Given the description of an element on the screen output the (x, y) to click on. 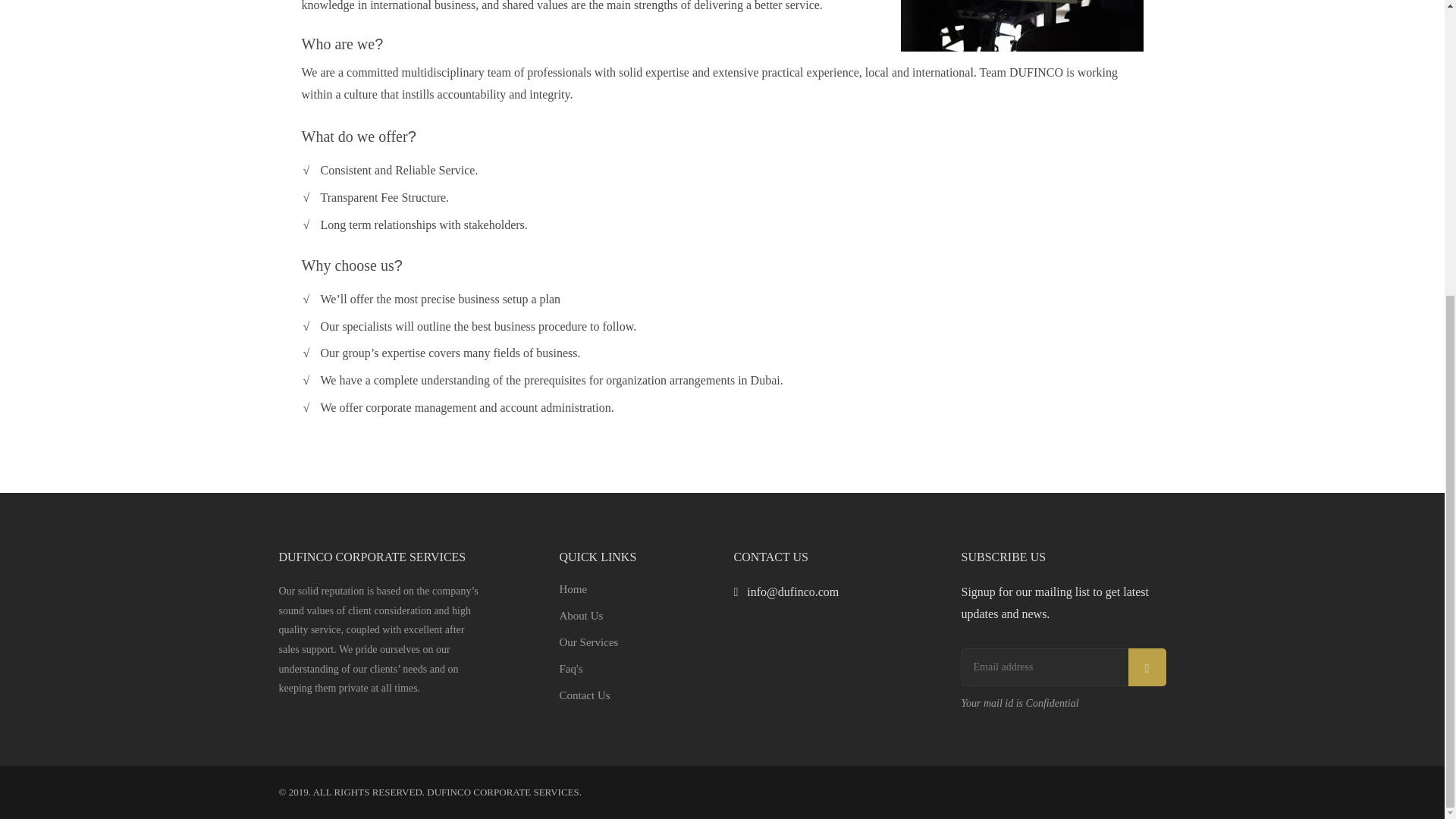
Our Services (635, 642)
Home (635, 589)
Contact Us (635, 694)
About Us (635, 615)
Faq's (635, 668)
